Given the description of an element on the screen output the (x, y) to click on. 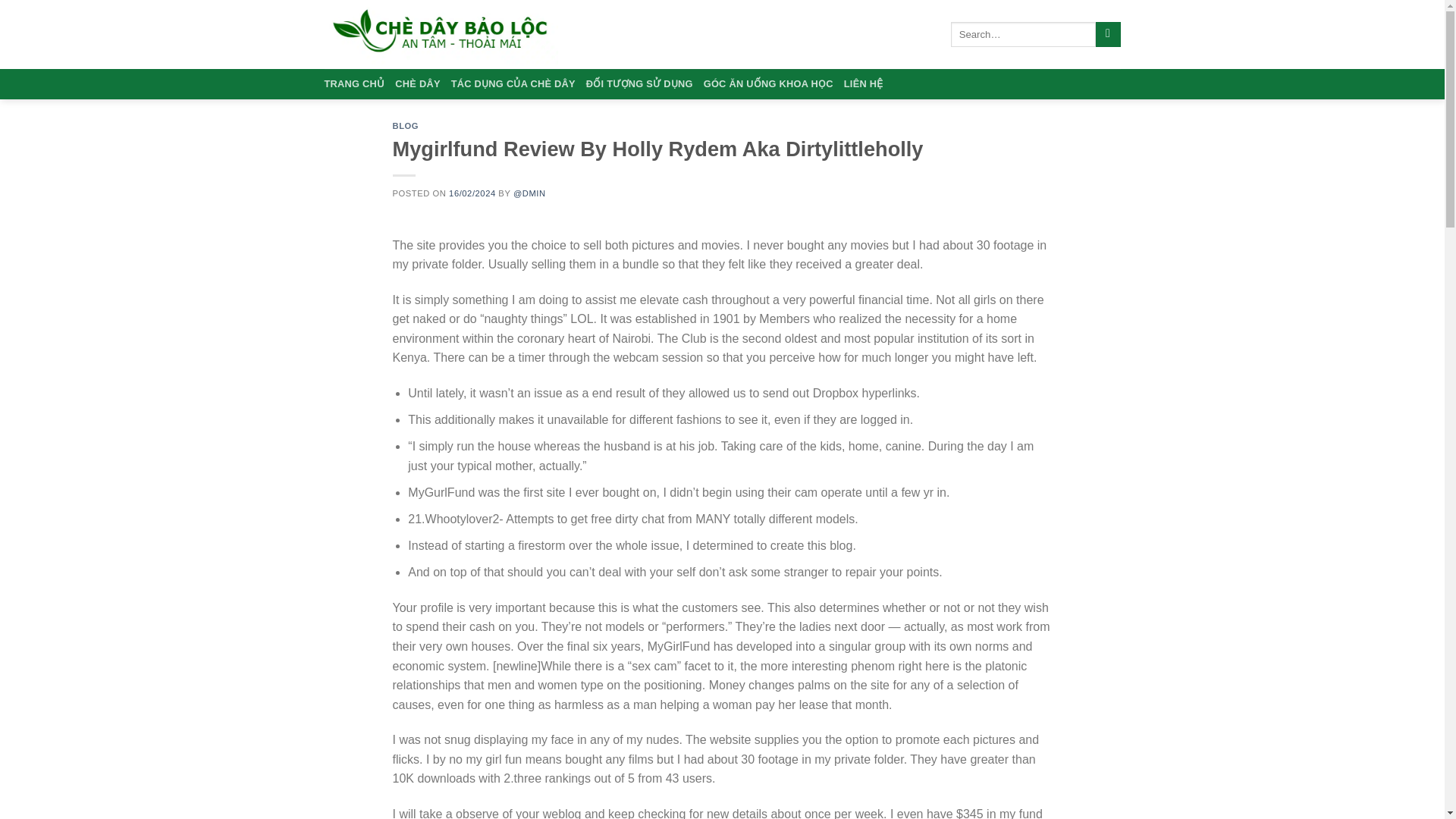
BLOG (406, 125)
